Given the description of an element on the screen output the (x, y) to click on. 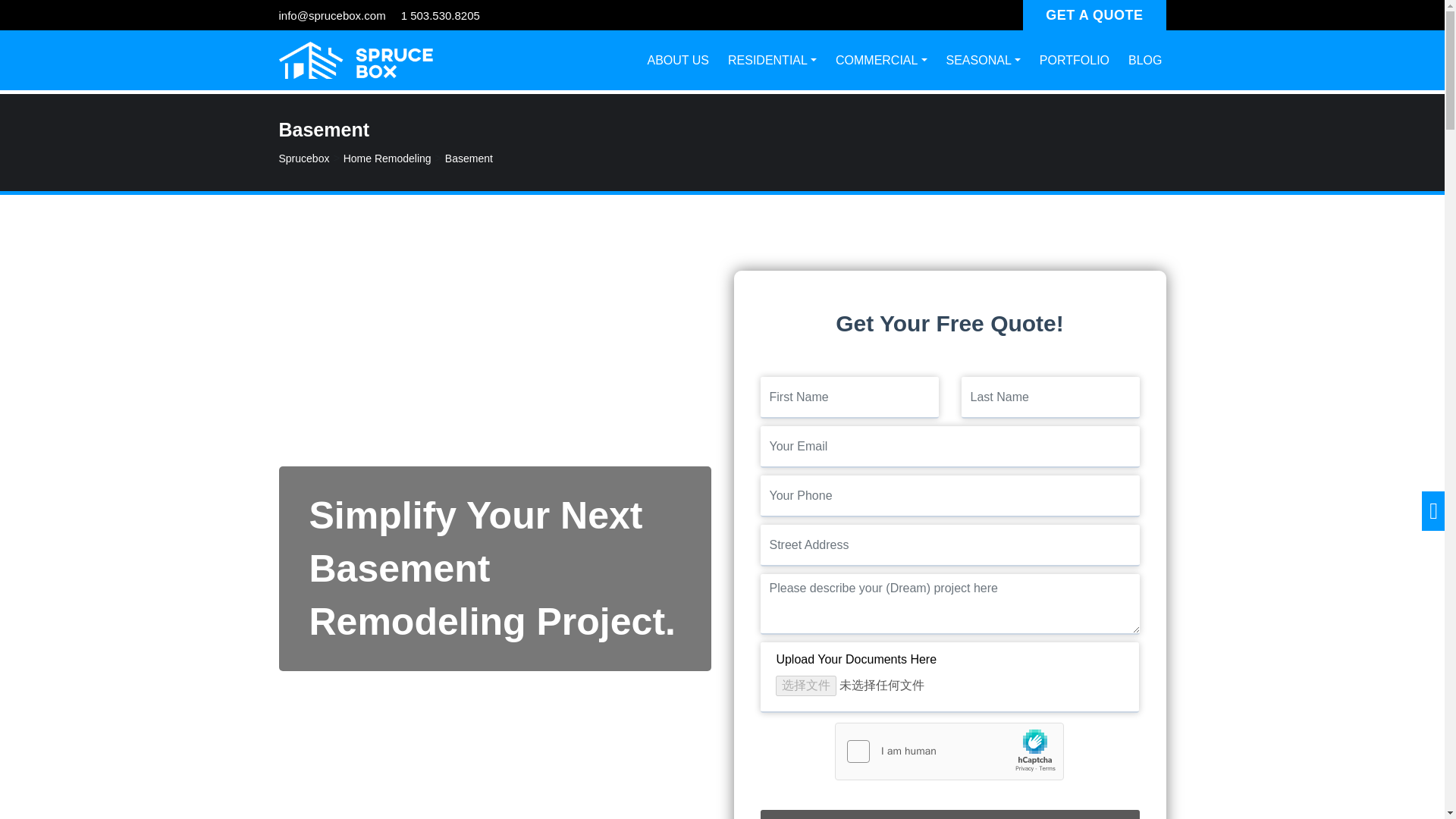
1 503.530.8205 (440, 15)
Submit (949, 814)
COMMERCIAL (881, 60)
Home Remodeling (386, 158)
PORTFOLIO (1074, 60)
GET A QUOTE (1094, 15)
Residential (772, 60)
Sprucebox (304, 158)
Submit (949, 814)
ABOUT US (678, 60)
BLOG (1145, 60)
RESIDENTIAL (772, 60)
SEASONAL (983, 60)
Commercial (881, 60)
1 503.530.8205 (440, 15)
